Given the description of an element on the screen output the (x, y) to click on. 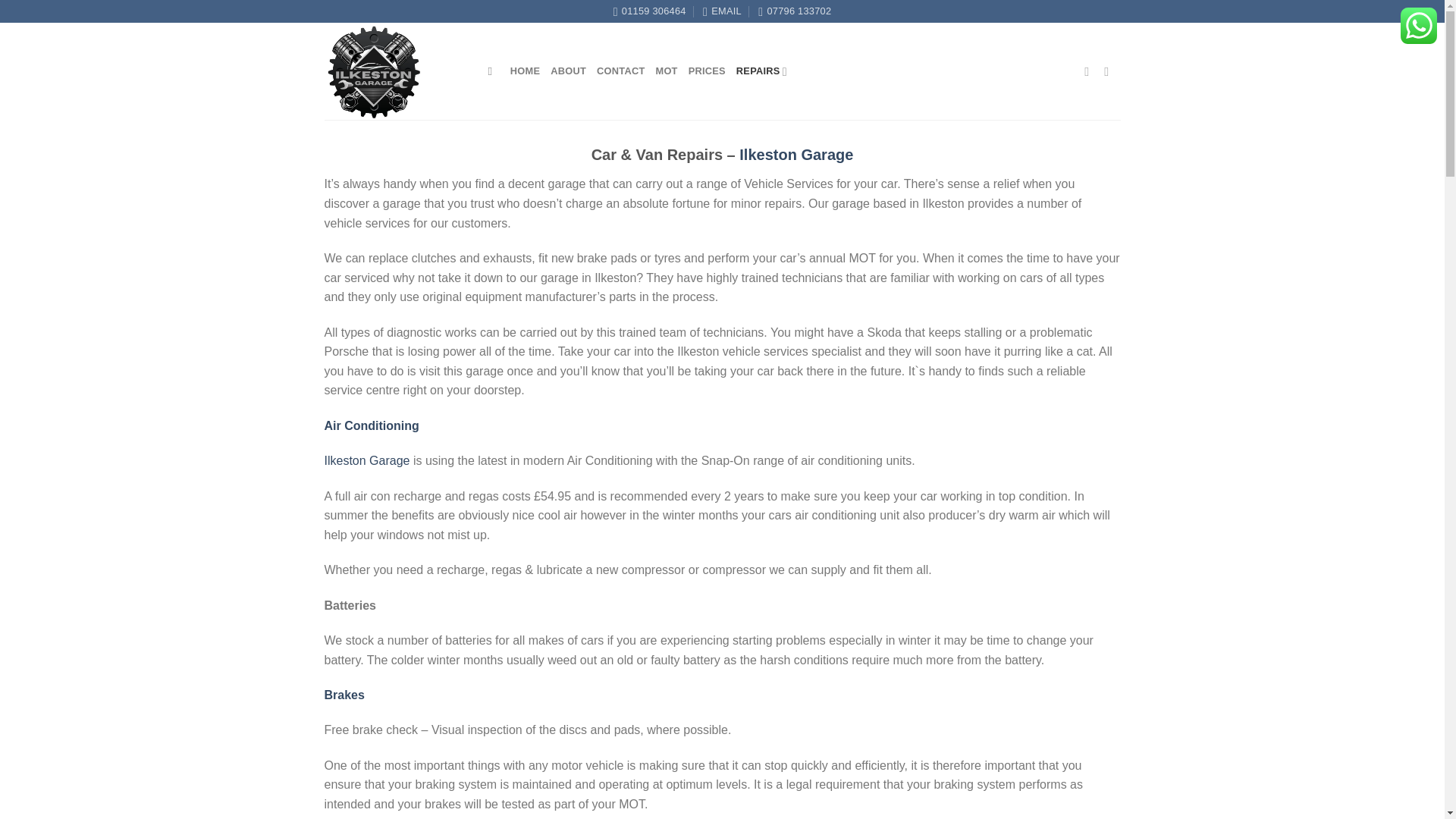
CONTACT (620, 71)
PRICES (706, 71)
07796 133702 (794, 11)
Ilkeston Garage (367, 460)
Ilkeston Garage (796, 154)
Brakes (344, 694)
Follow on Twitter (1109, 70)
Air Conditioning (371, 425)
Follow on Facebook (1090, 70)
HOME (525, 71)
01159 306464 (648, 11)
Belfield Street, DE7 8DU (648, 11)
ABOUT (568, 71)
EMAIL (722, 11)
07796 133702 (794, 11)
